Given the description of an element on the screen output the (x, y) to click on. 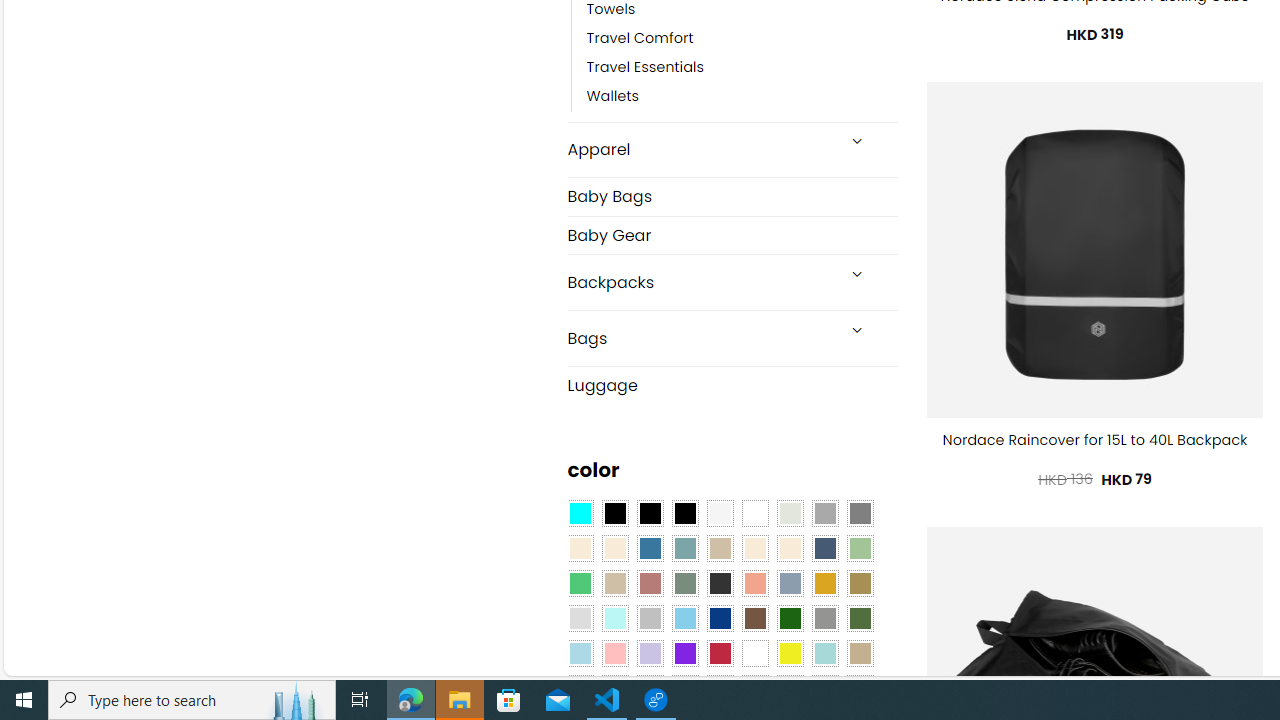
Light Taupe (614, 583)
Luggage (732, 384)
Red (719, 653)
Travel Comfort (639, 38)
Caramel (755, 548)
Charcoal (719, 583)
Navy Blue (719, 619)
Mint (614, 619)
Yellow (789, 653)
Light Purple (650, 653)
Gray (824, 619)
Light Green (859, 548)
Kelp (859, 583)
Clear (755, 514)
